Given the description of an element on the screen output the (x, y) to click on. 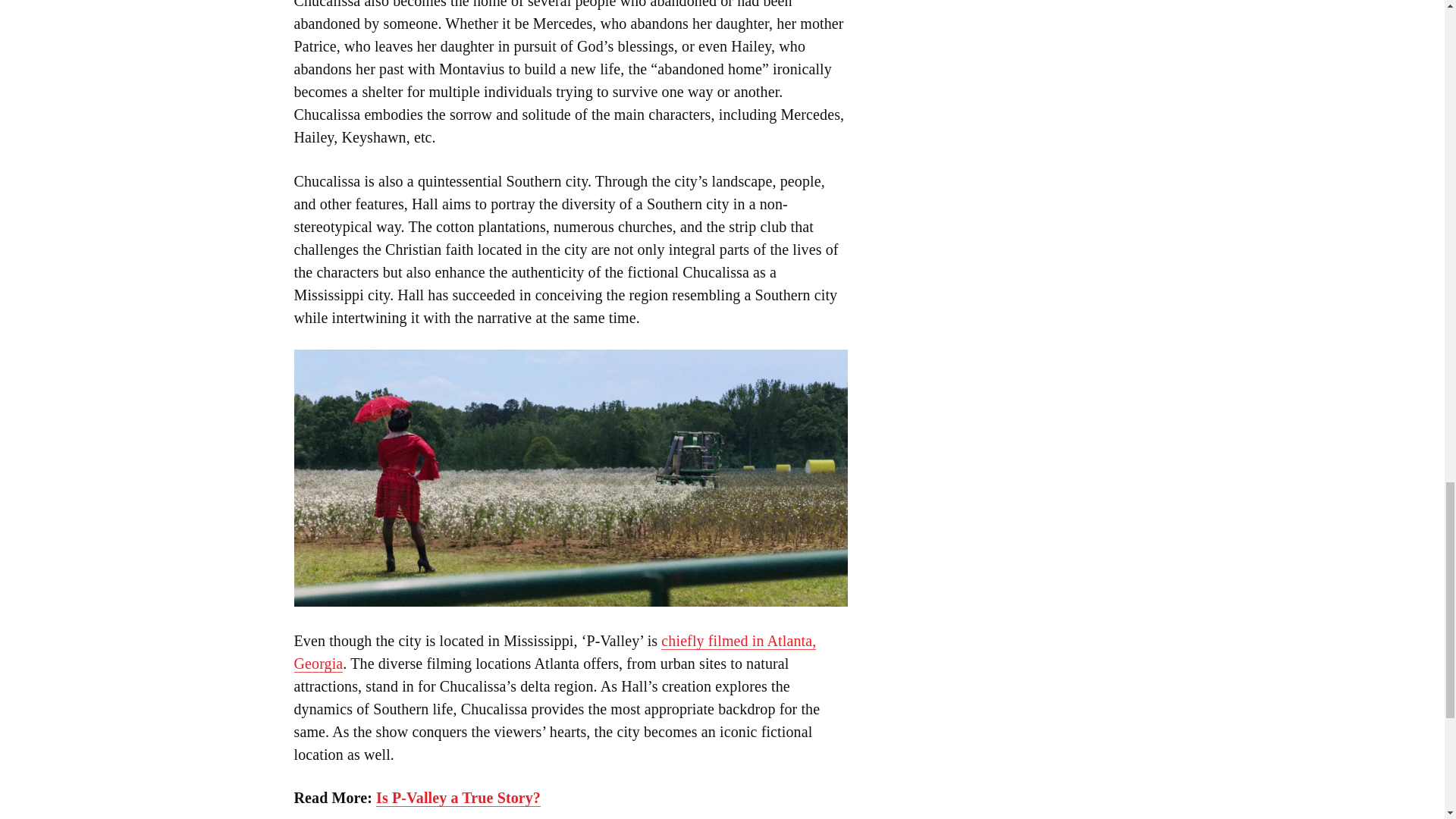
Is P-Valley a True Story? (457, 797)
chiefly filmed in Atlanta, Georgia (555, 652)
Is P-Valley a True Story? (457, 797)
